Given the description of an element on the screen output the (x, y) to click on. 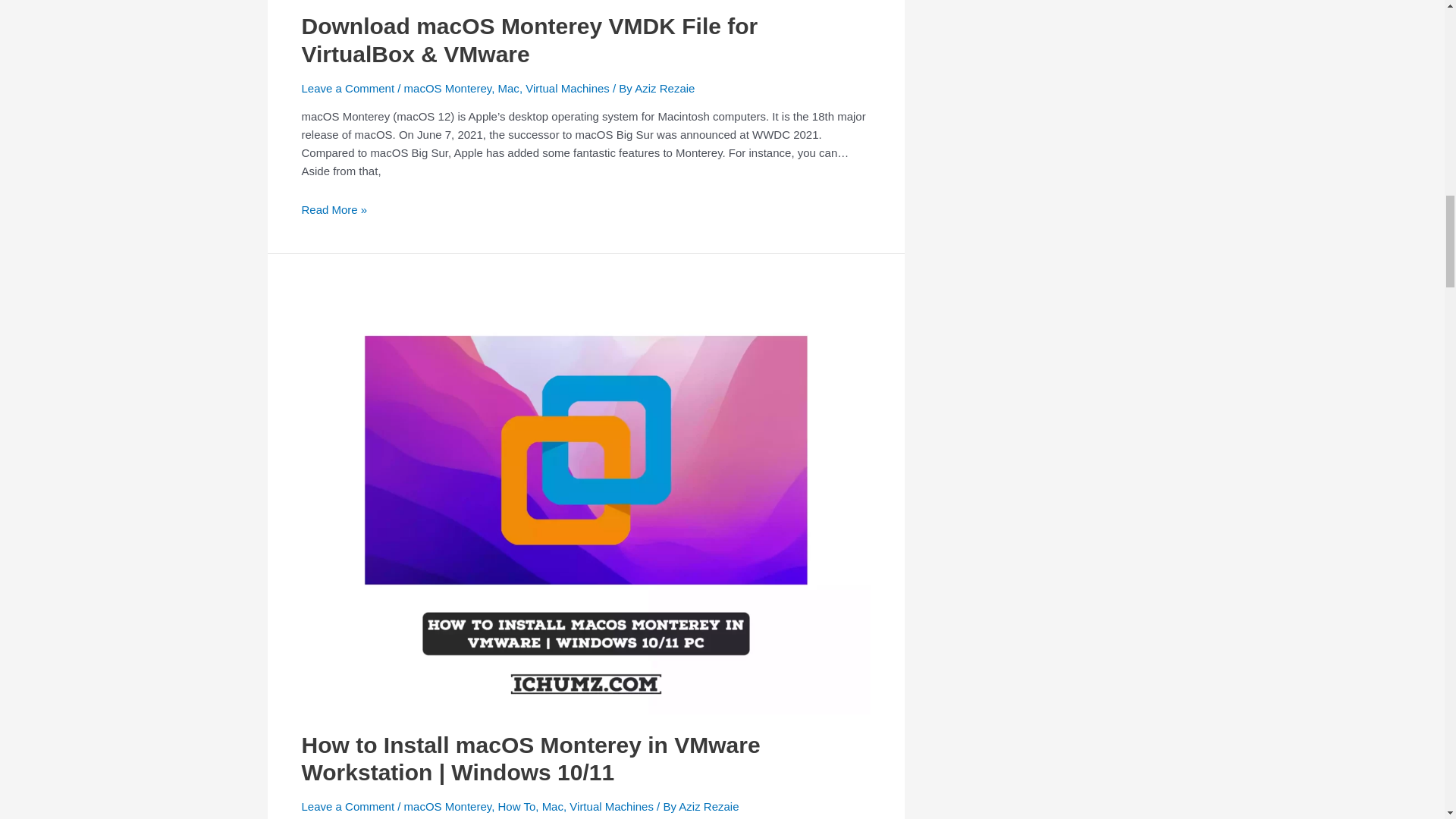
View all posts by Aziz Rezaie (664, 88)
View all posts by Aziz Rezaie (708, 806)
macOS Monterey (448, 88)
Leave a Comment (347, 88)
